Given the description of an element on the screen output the (x, y) to click on. 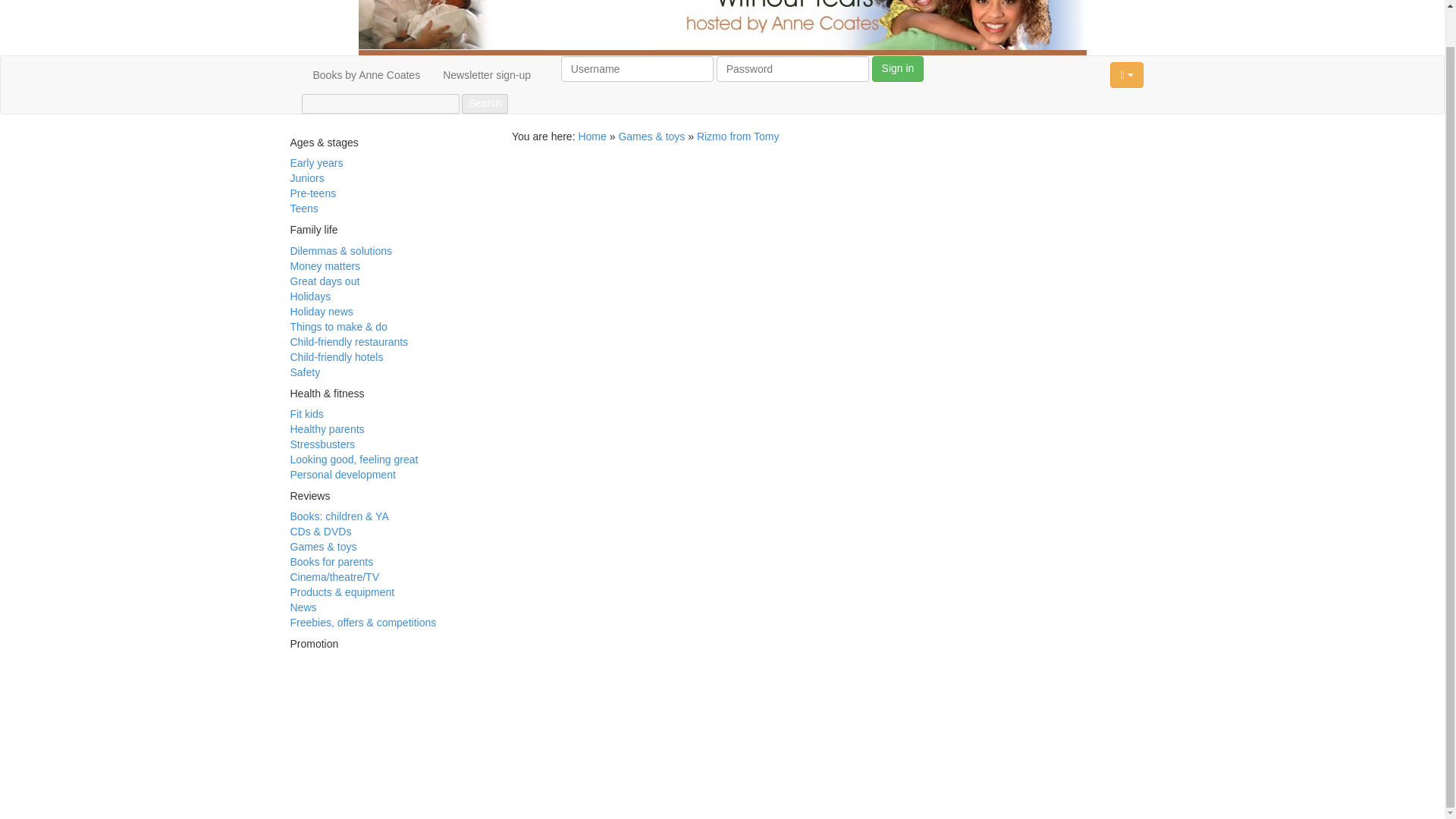
Juniors (306, 177)
Holiday news (320, 311)
Personal development (341, 474)
Teens (303, 208)
Early years (315, 162)
News (302, 607)
Money matters (324, 265)
Search (483, 103)
Pre-teens (312, 193)
Home (591, 136)
Safety (304, 372)
Great days out (324, 281)
Books for parents (330, 562)
Fit kids (306, 413)
Newsletter sign-up (485, 75)
